Given the description of an element on the screen output the (x, y) to click on. 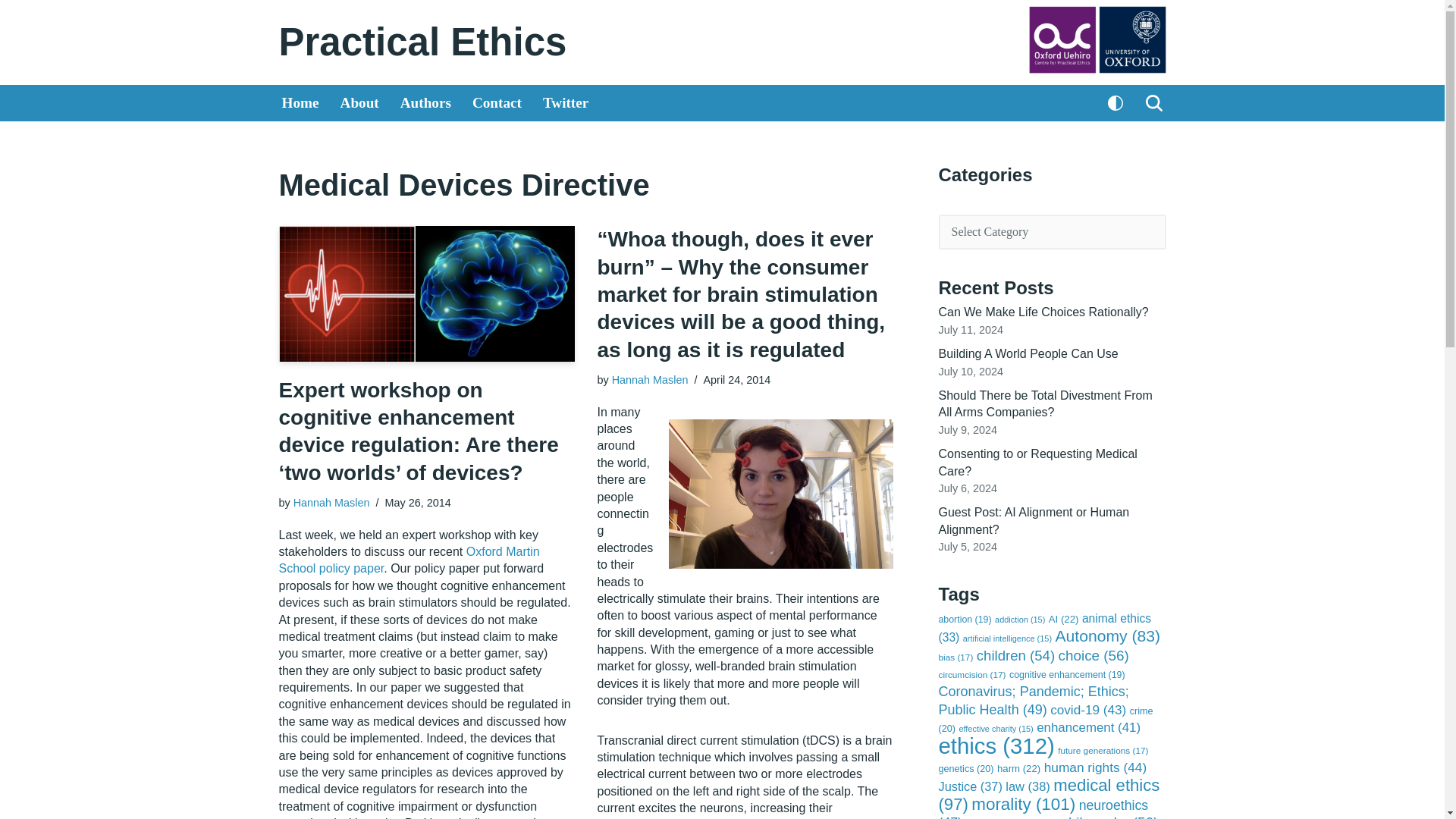
Contact (496, 102)
Consenting to or Requesting Medical Care? (1038, 461)
Practical Ethics (423, 41)
Twitter (565, 102)
Posts by Hannah Maslen (649, 379)
About (359, 102)
Authors (425, 102)
Guest Post: AI Alignment or Human Alignment? (1034, 520)
Skip to content (11, 31)
Building A World People Can Use (1028, 353)
Posts by Hannah Maslen (331, 502)
Hannah Maslen (331, 502)
Should There be Total Divestment From All Arms Companies? (1046, 403)
Hannah Maslen (649, 379)
Oxford Martin School policy paper (409, 559)
